Given the description of an element on the screen output the (x, y) to click on. 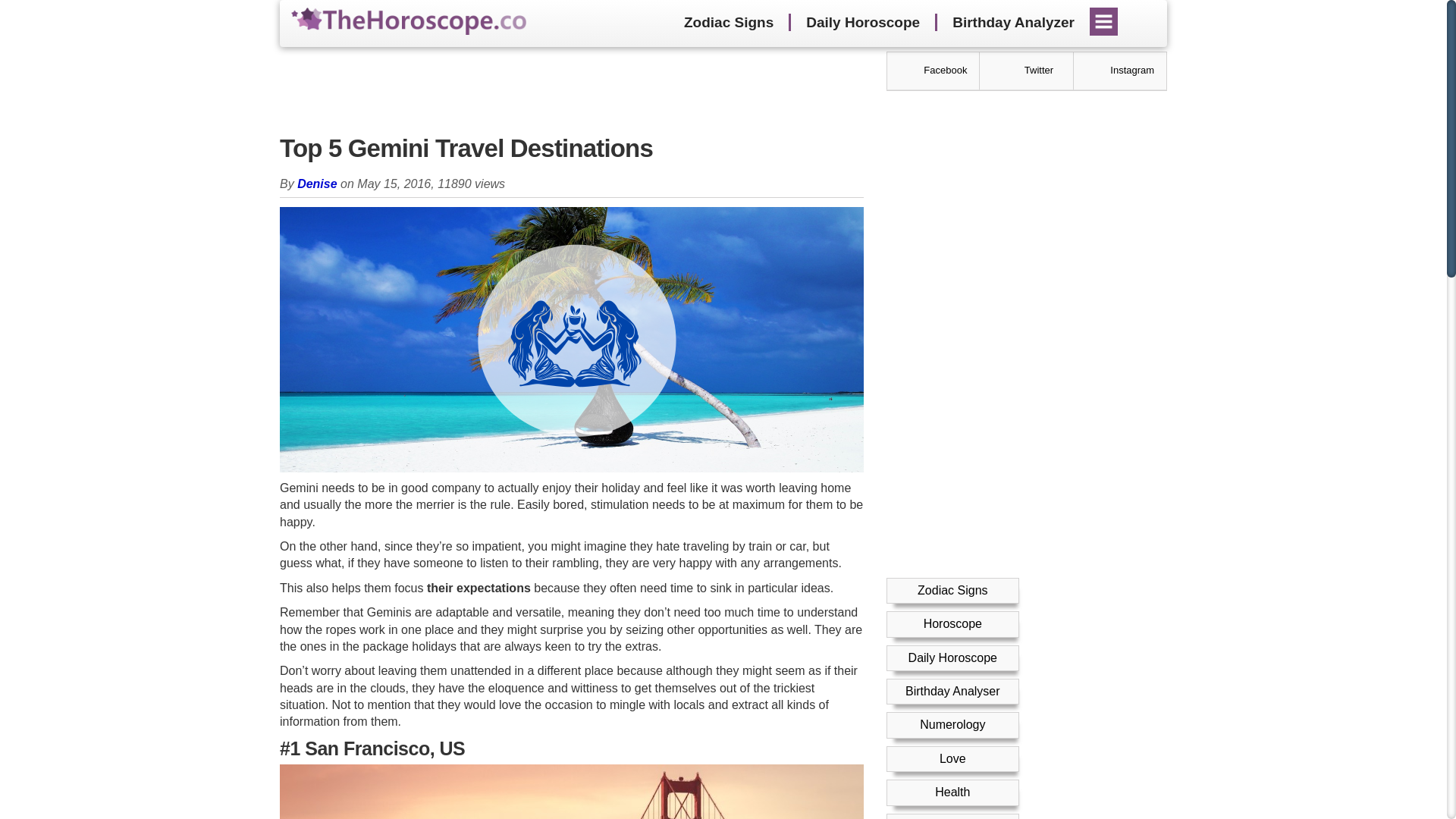
Horoscope (952, 623)
Numerology (952, 724)
Health (952, 791)
Zodiac Signs (728, 22)
Zodiac Signs (952, 590)
Daily Horoscope (862, 22)
Birthday Analyser (952, 690)
Daily Horoscope (952, 657)
Love (952, 758)
